Given the description of an element on the screen output the (x, y) to click on. 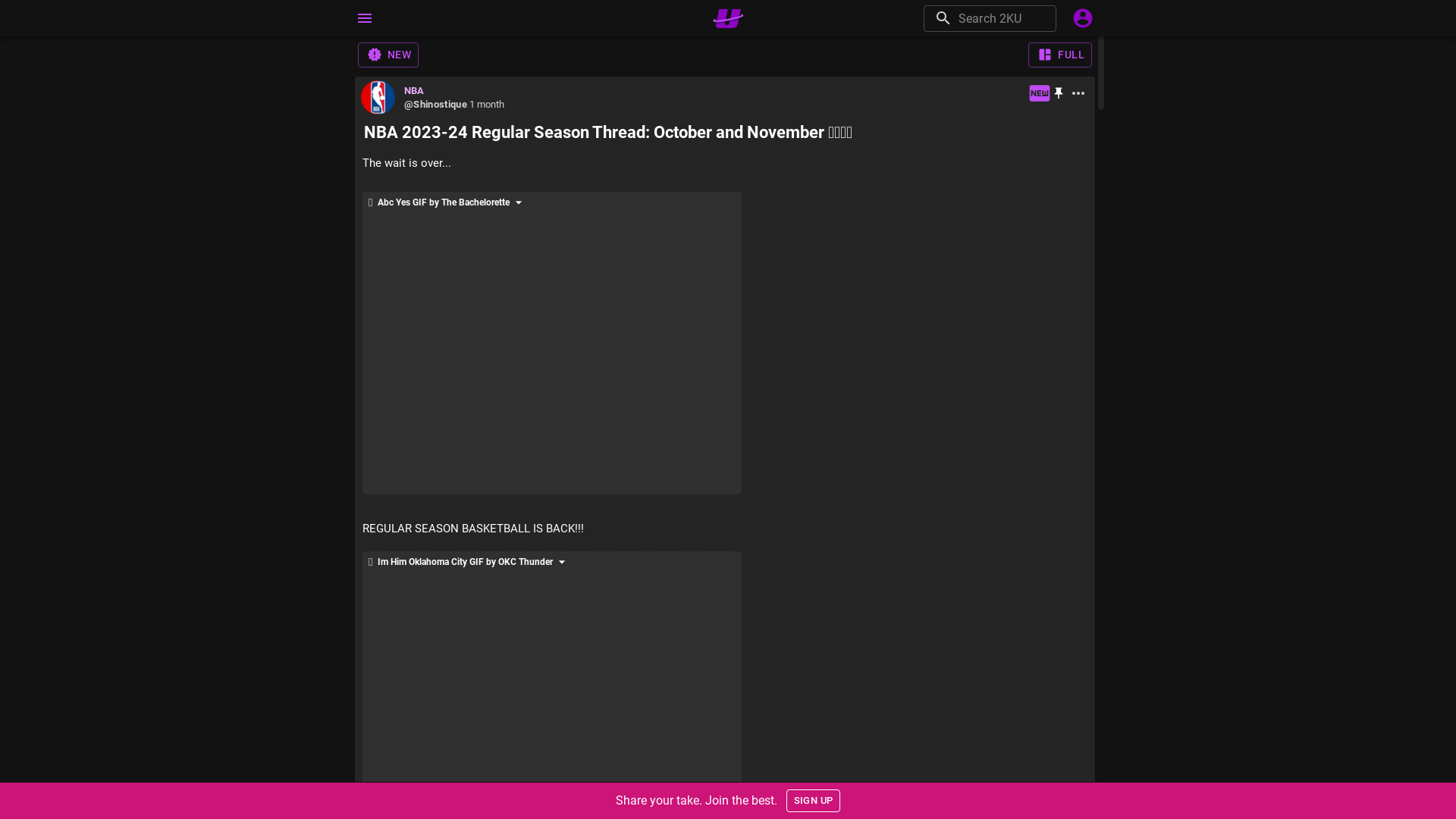
SIGN UP Element type: text (813, 800)
SIGN UP Element type: text (813, 800)
